Given the description of an element on the screen output the (x, y) to click on. 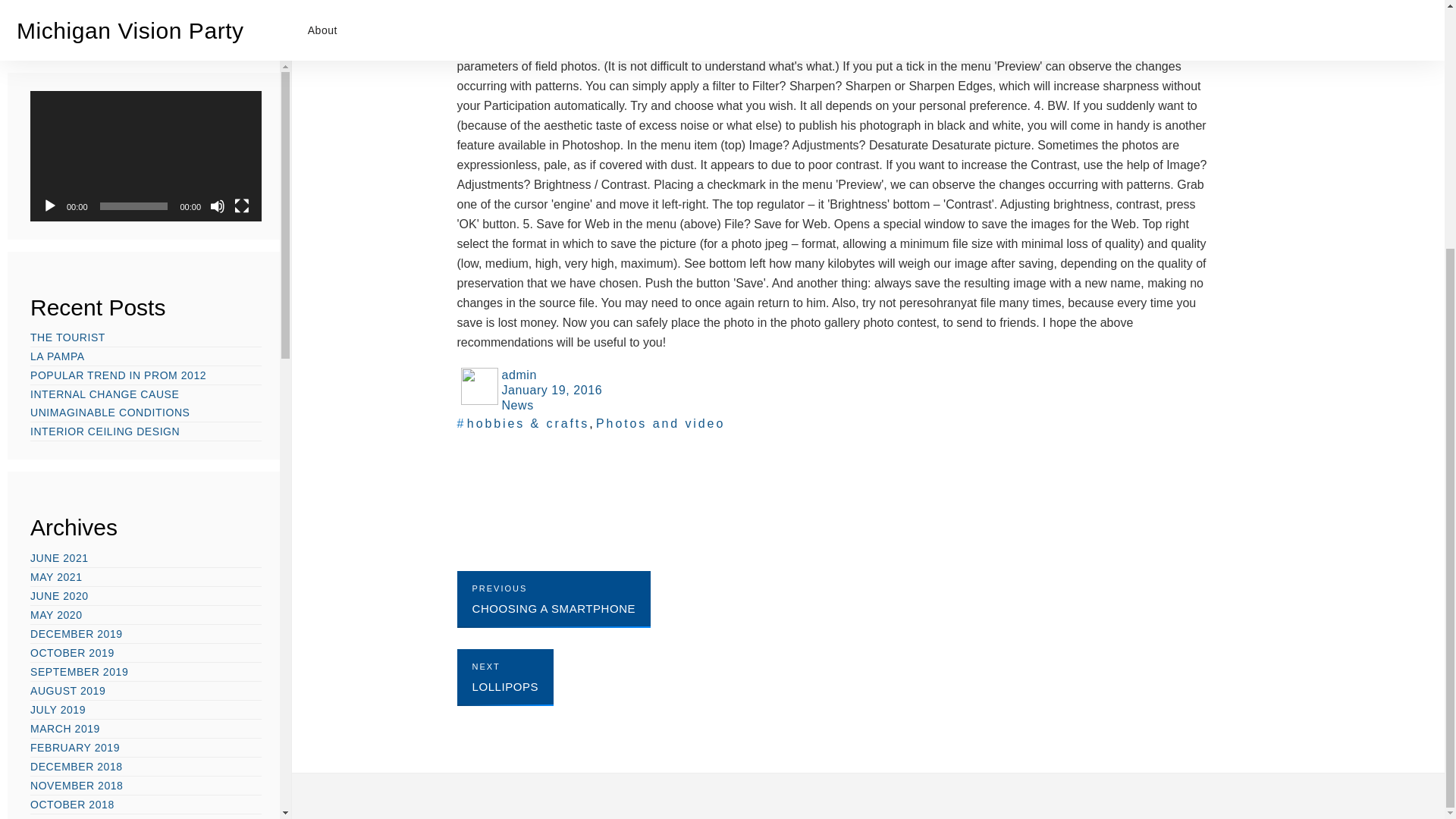
OCTOBER 2017 (72, 494)
NOVEMBER 2018 (76, 437)
INTERIOR CEILING DESIGN (104, 83)
POPULAR TREND IN PROM 2012 (118, 27)
admin (835, 375)
JULY 2019 (57, 361)
OCTOBER 2019 (72, 304)
SEPTEMBER 2017 (79, 513)
DECEMBER 2019 (76, 285)
JUNE 2020 (59, 247)
